Given the description of an element on the screen output the (x, y) to click on. 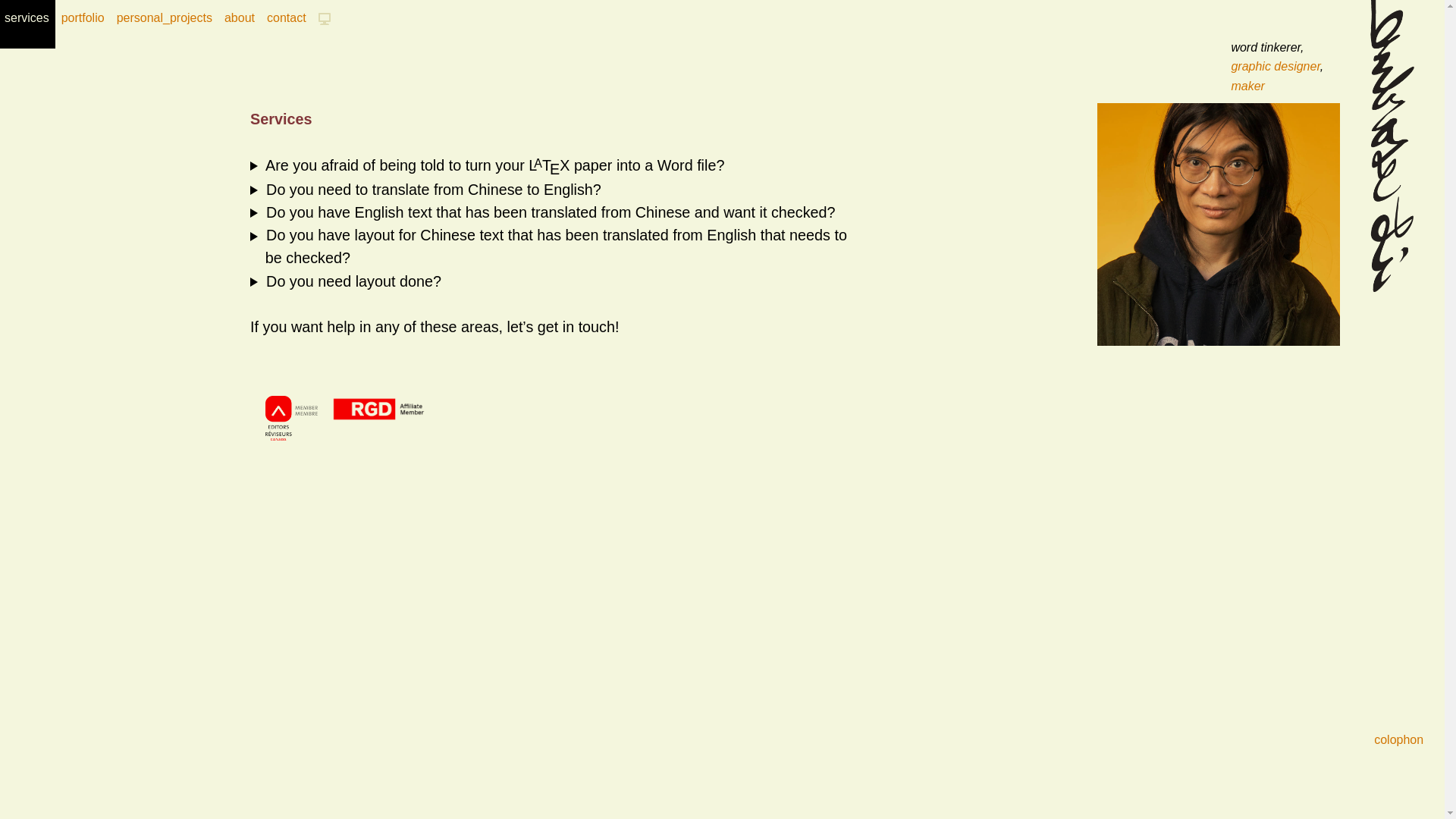
graphic designer Element type: text (1274, 65)
maker Element type: text (1247, 85)
